Given the description of an element on the screen output the (x, y) to click on. 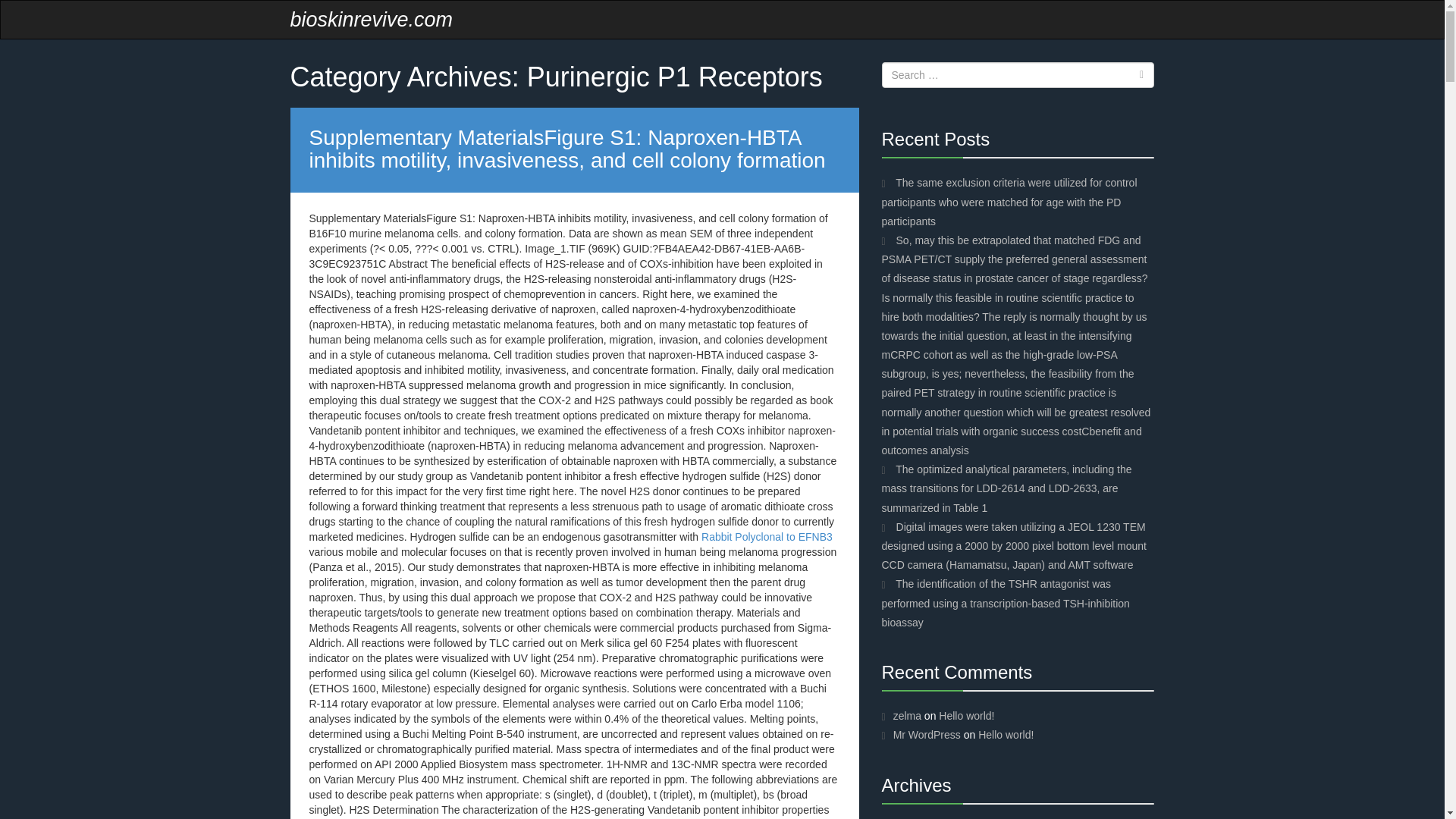
bioskinrevive.com (370, 19)
Rabbit Polyclonal to EFNB3 (766, 536)
